Given the description of an element on the screen output the (x, y) to click on. 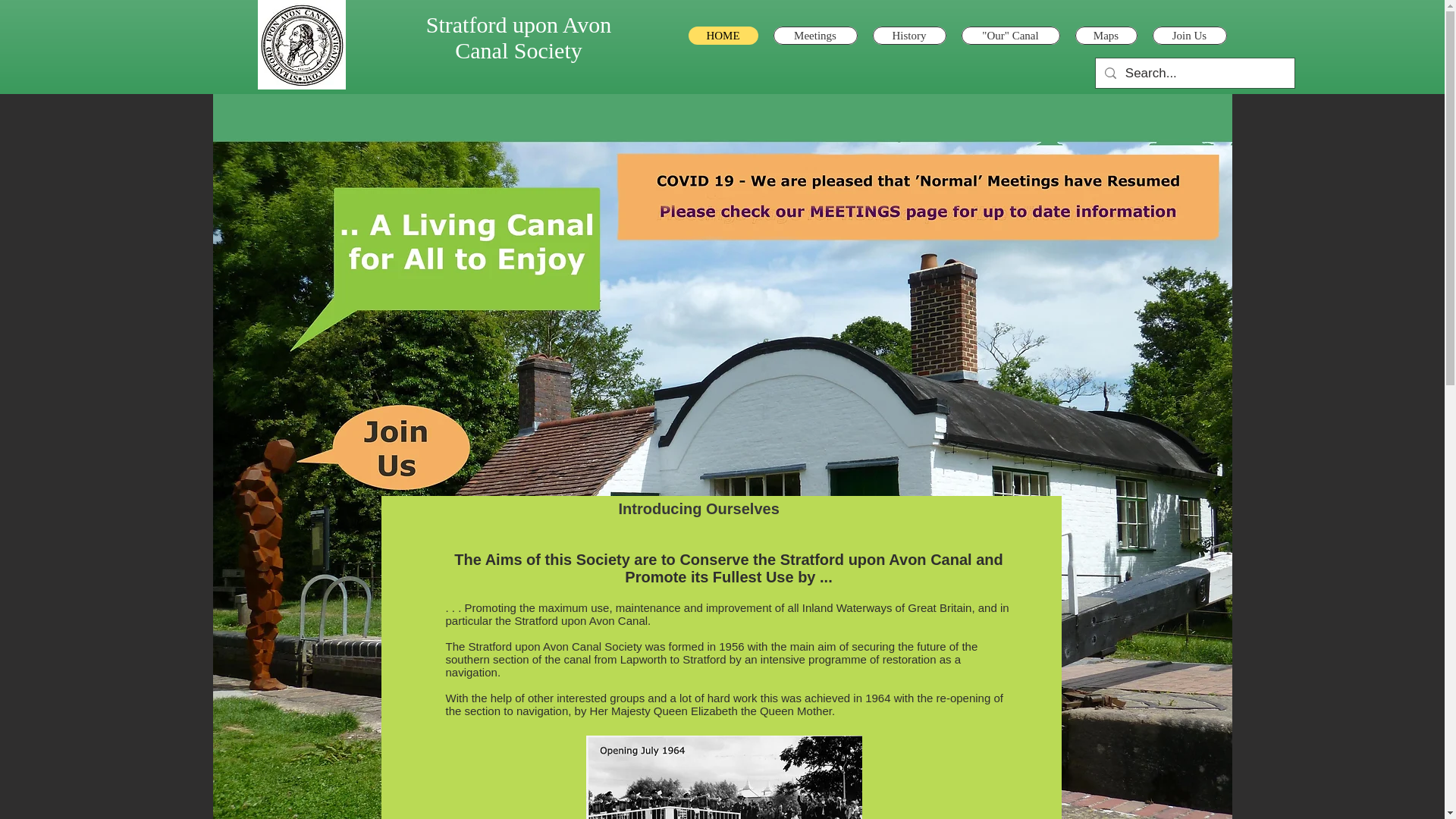
Join Us (1190, 35)
Meetings (815, 35)
Maps (1106, 35)
"Our" Canal (1009, 35)
HOME (723, 35)
History (908, 35)
